Given the description of an element on the screen output the (x, y) to click on. 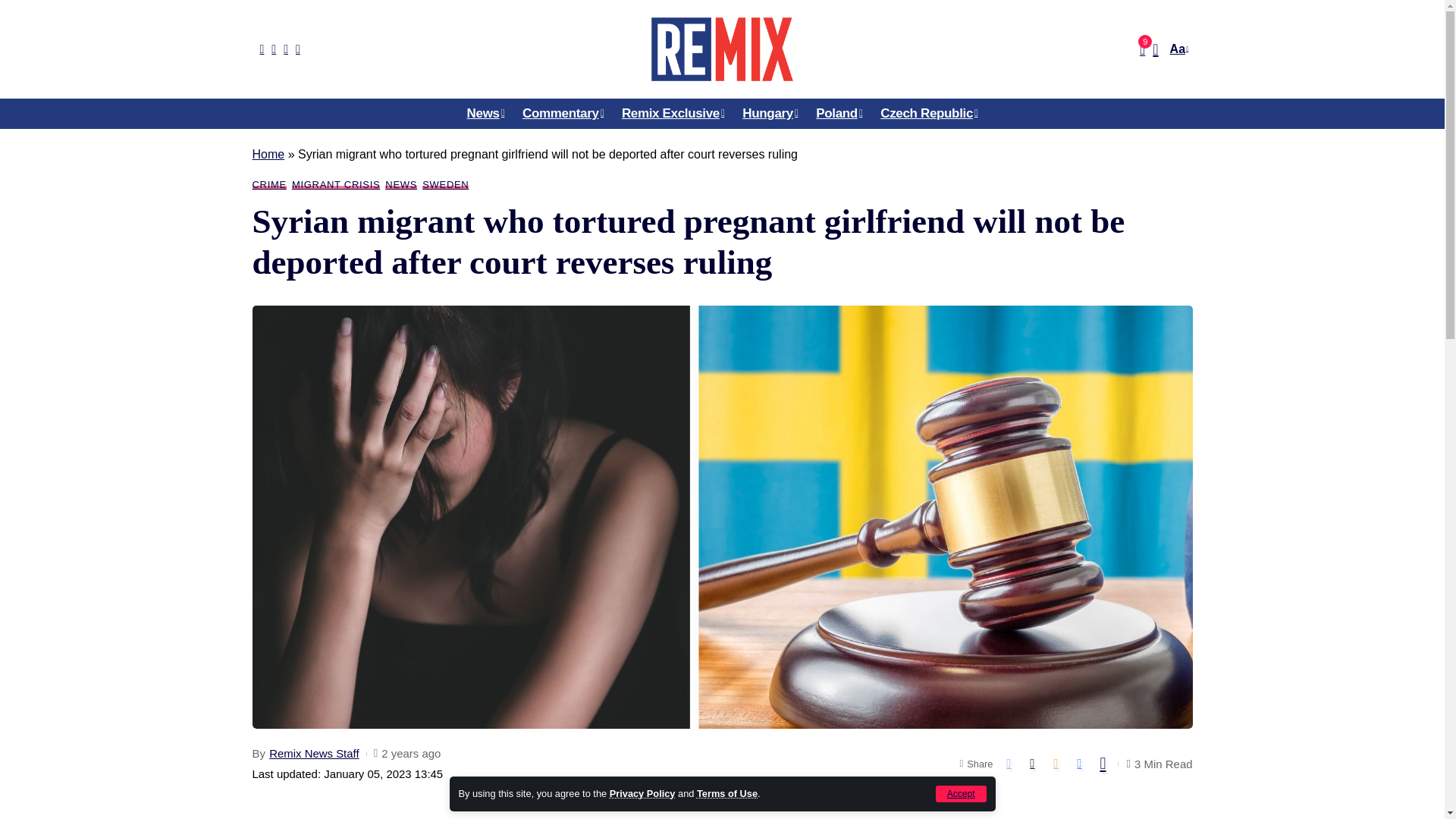
Remix News (721, 48)
Terms of Use (727, 793)
Privacy Policy (642, 793)
Accept (961, 793)
